Given the description of an element on the screen output the (x, y) to click on. 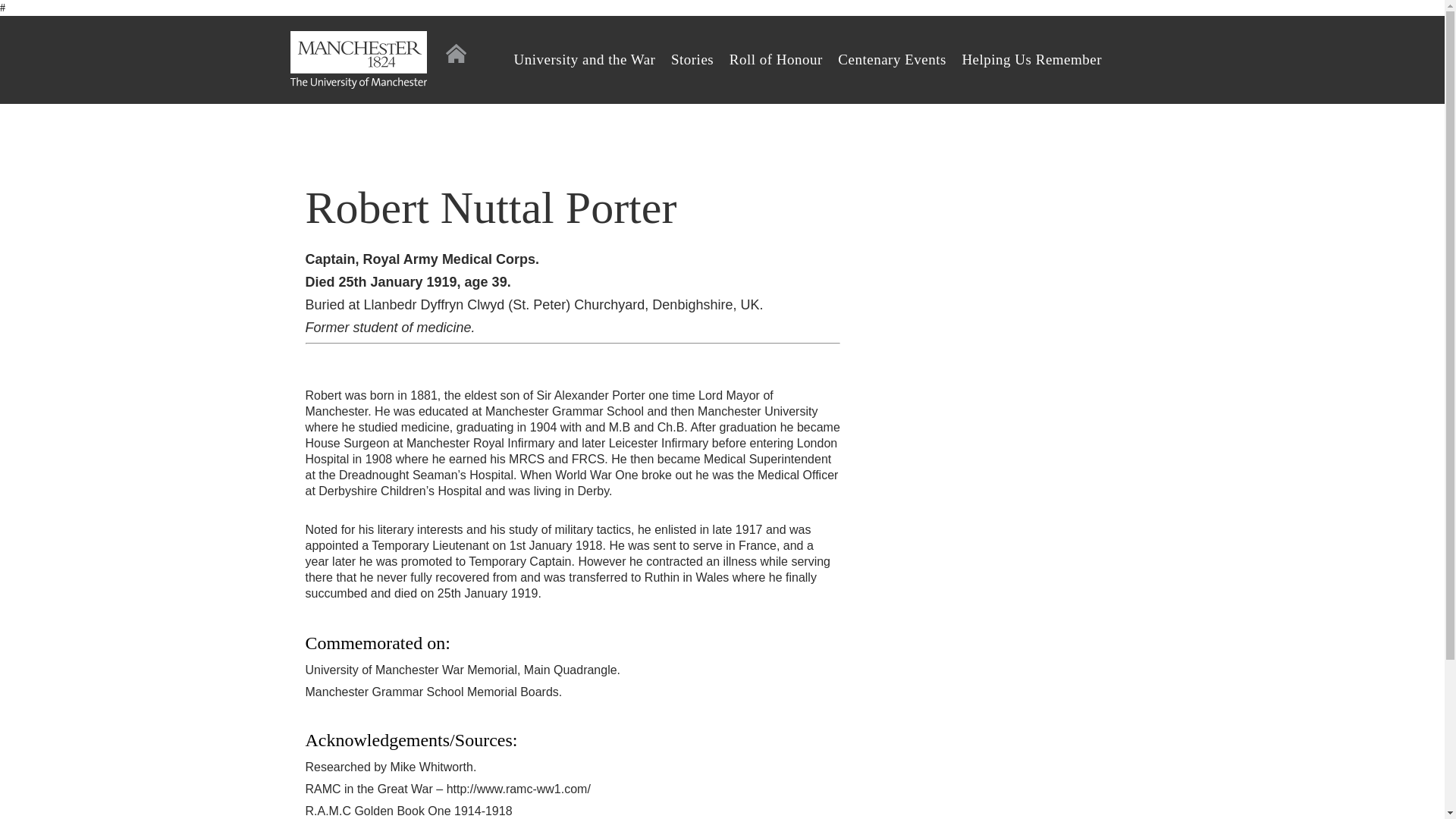
Stories (692, 59)
Helping Us Remember (1031, 59)
University and the War (584, 59)
Home (455, 53)
Roll of Honour (775, 59)
Centenary Events (892, 59)
